Given the description of an element on the screen output the (x, y) to click on. 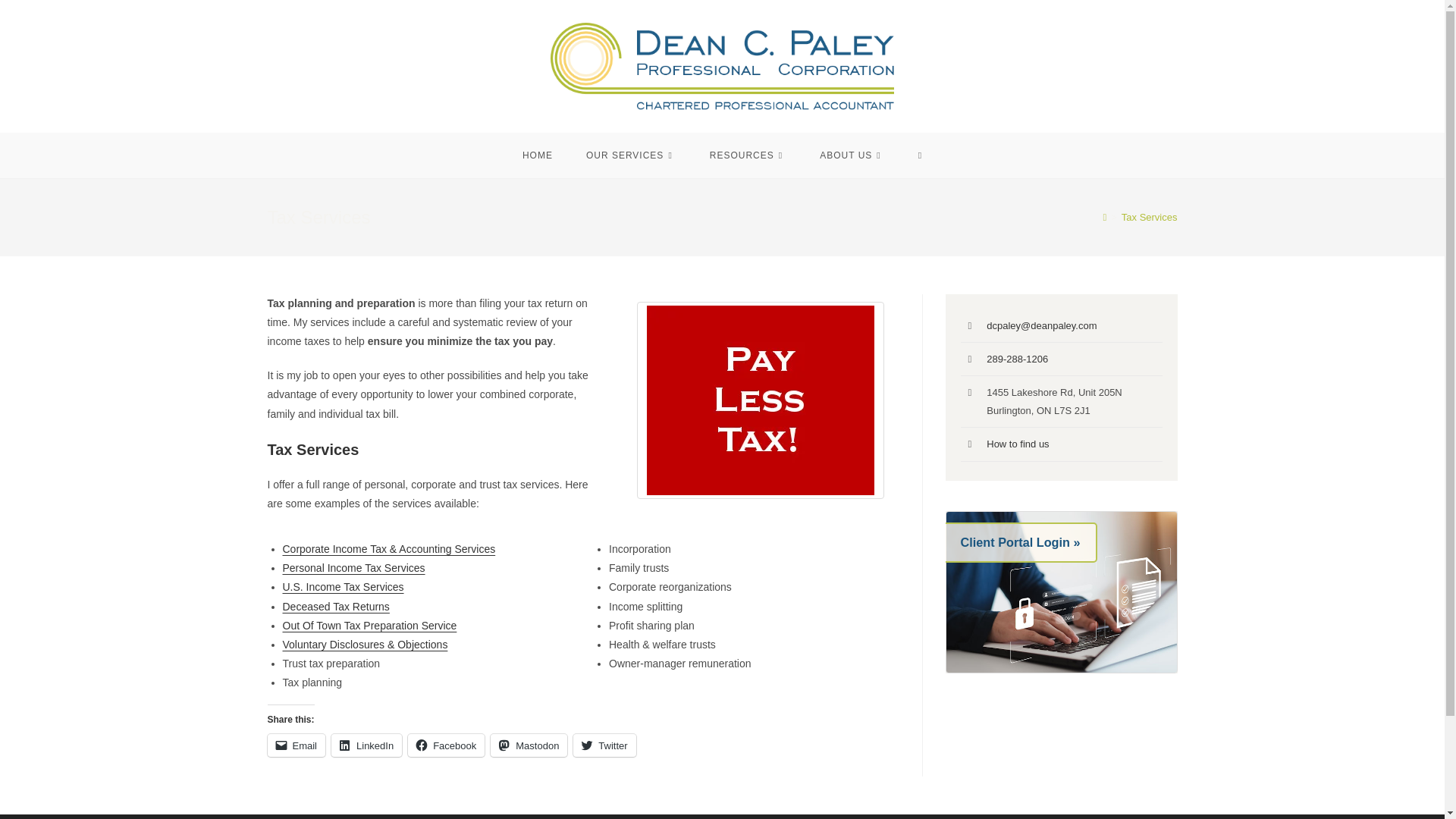
Click to share on Mastodon (528, 744)
HOME (537, 155)
Click to share on LinkedIn (366, 744)
RESOURCES (748, 155)
Click to share on Twitter (603, 744)
Click to share on Facebook (445, 744)
OUR SERVICES (631, 155)
ABOUT US (852, 155)
Click to email a link to a friend (295, 744)
